Given the description of an element on the screen output the (x, y) to click on. 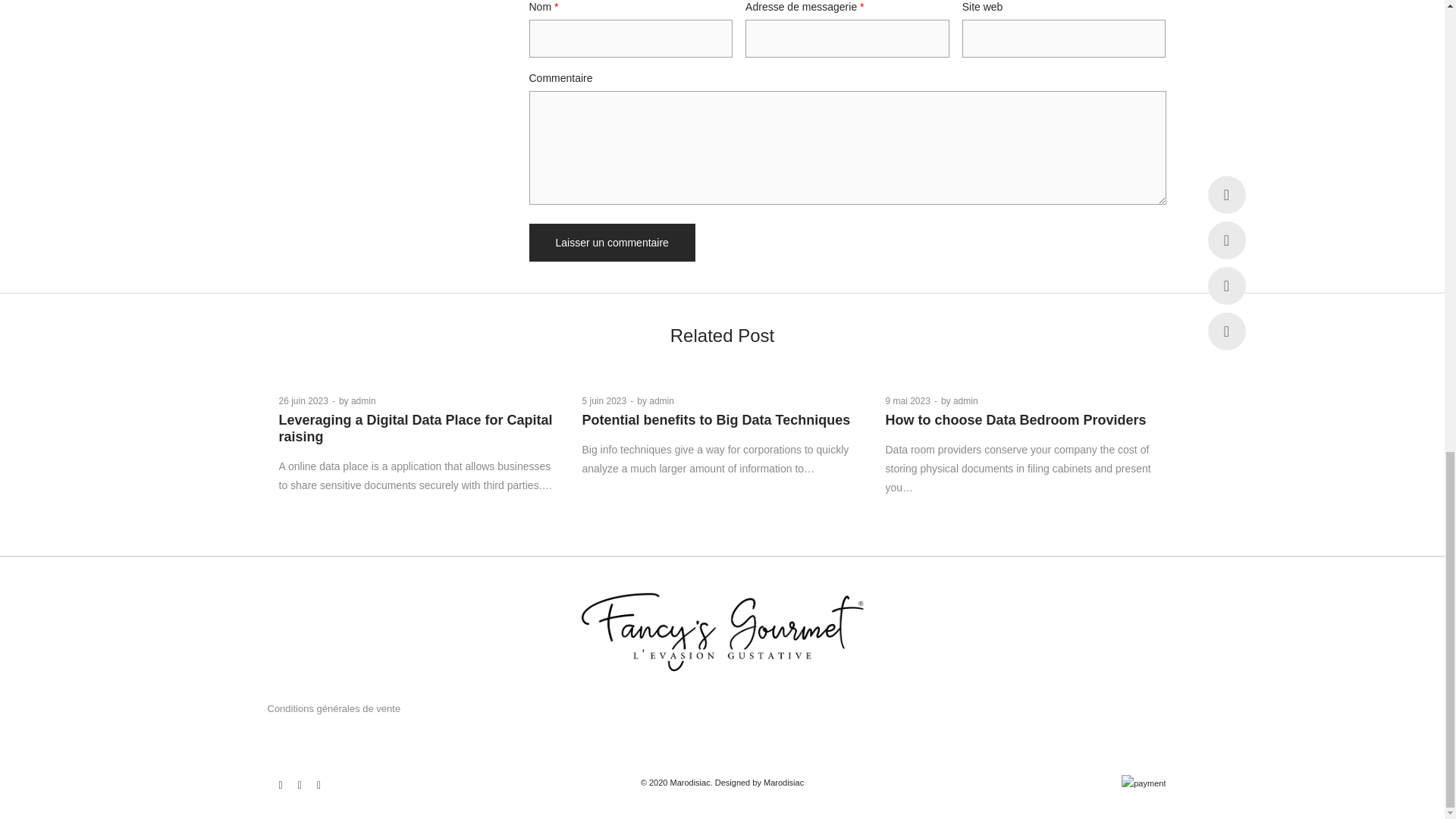
How to choose Data Bedroom Providers (1016, 419)
Laisser un commentaire (612, 242)
Leveraging a Digital Data Place for Capital raising (416, 428)
Potential benefits to Big Data Techniques (716, 419)
